Given the description of an element on the screen output the (x, y) to click on. 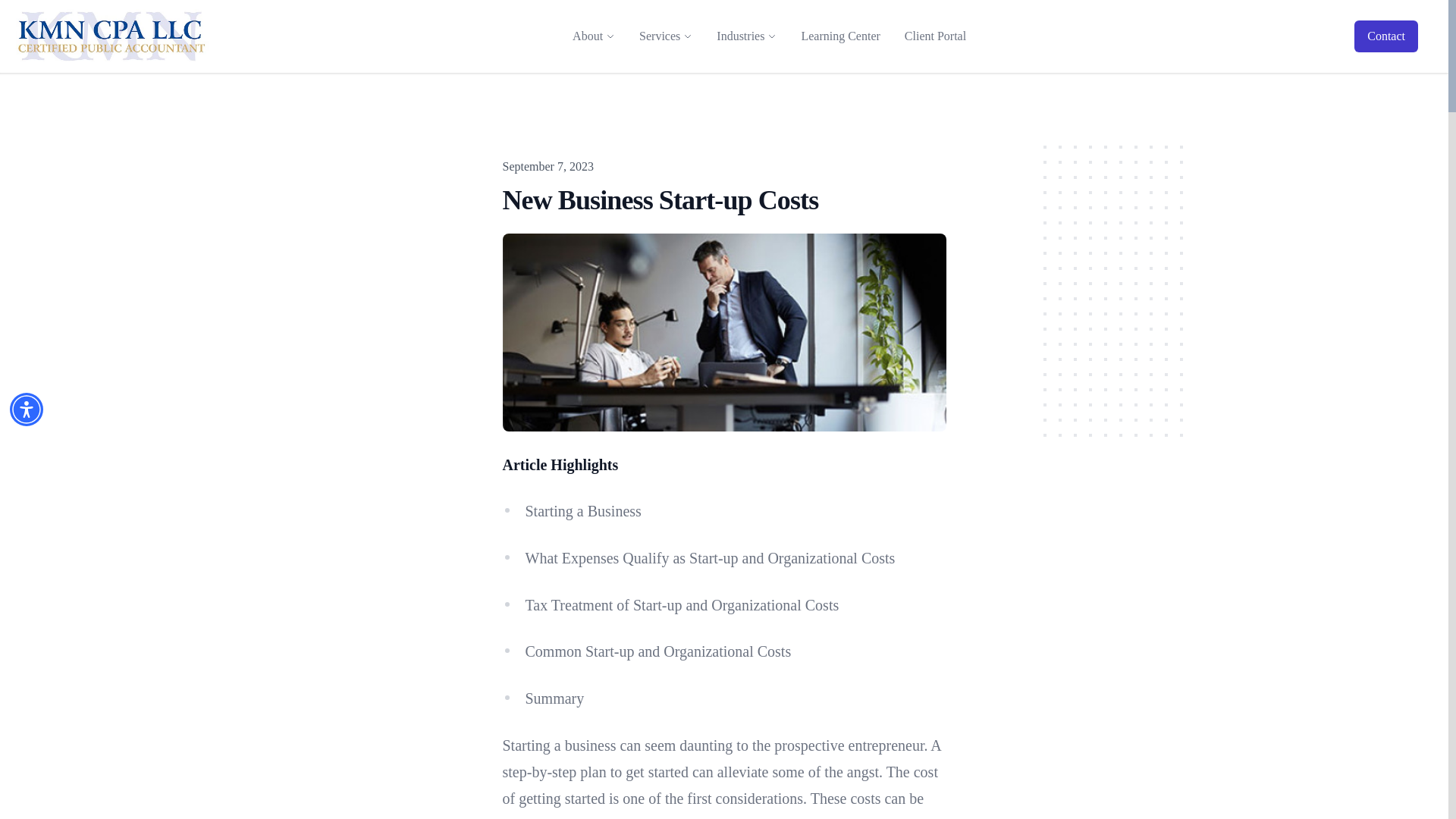
Contact (1386, 36)
Client Portal (935, 36)
About (587, 36)
Services (659, 36)
KMNCPALLC (111, 36)
Learning Center (840, 36)
Accessibility Menu (26, 409)
